Given the description of an element on the screen output the (x, y) to click on. 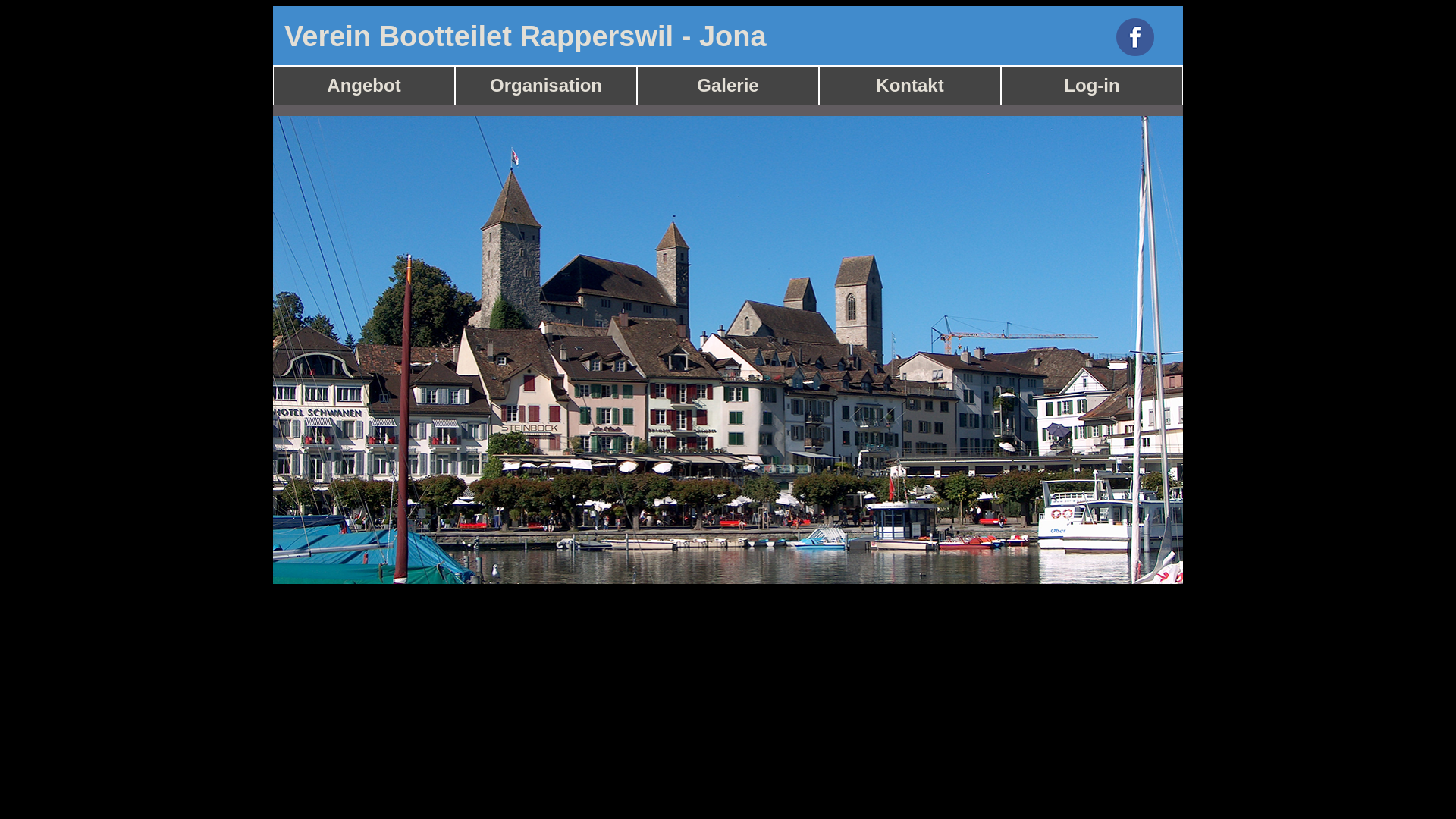
Organisation Element type: text (546, 85)
Bootteilet auf Facebook Element type: hover (1145, 60)
Angebot Element type: text (364, 85)
Log-in Element type: text (1092, 85)
Verein Bootteilet Rapperswil - Jona Element type: text (525, 36)
Galerie Element type: text (728, 85)
Kontakt Element type: text (910, 85)
